Given the description of an element on the screen output the (x, y) to click on. 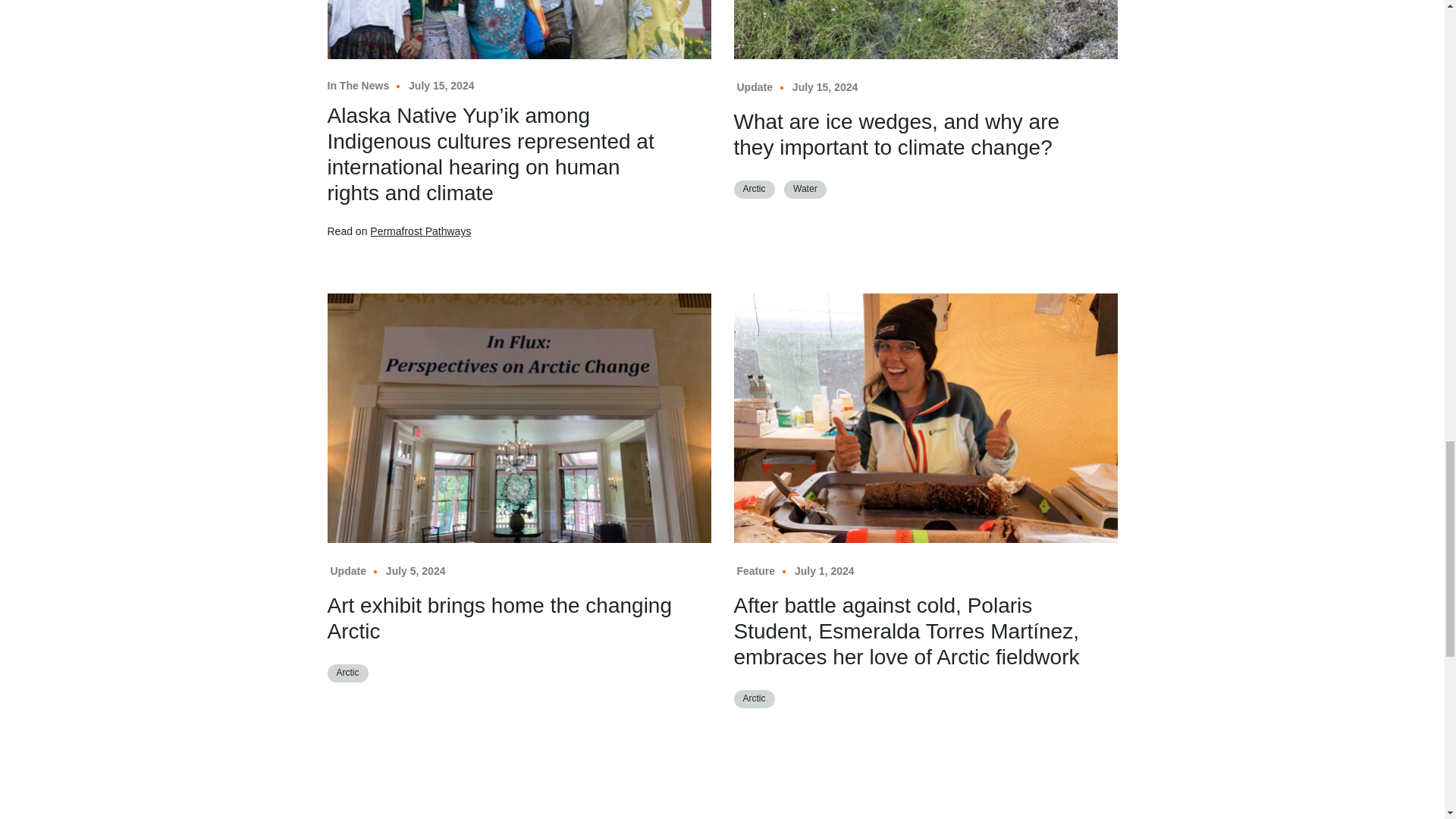
Permafrost Pathways (419, 231)
Arctic (347, 673)
Arctic (753, 189)
Water (805, 189)
